Given the description of an element on the screen output the (x, y) to click on. 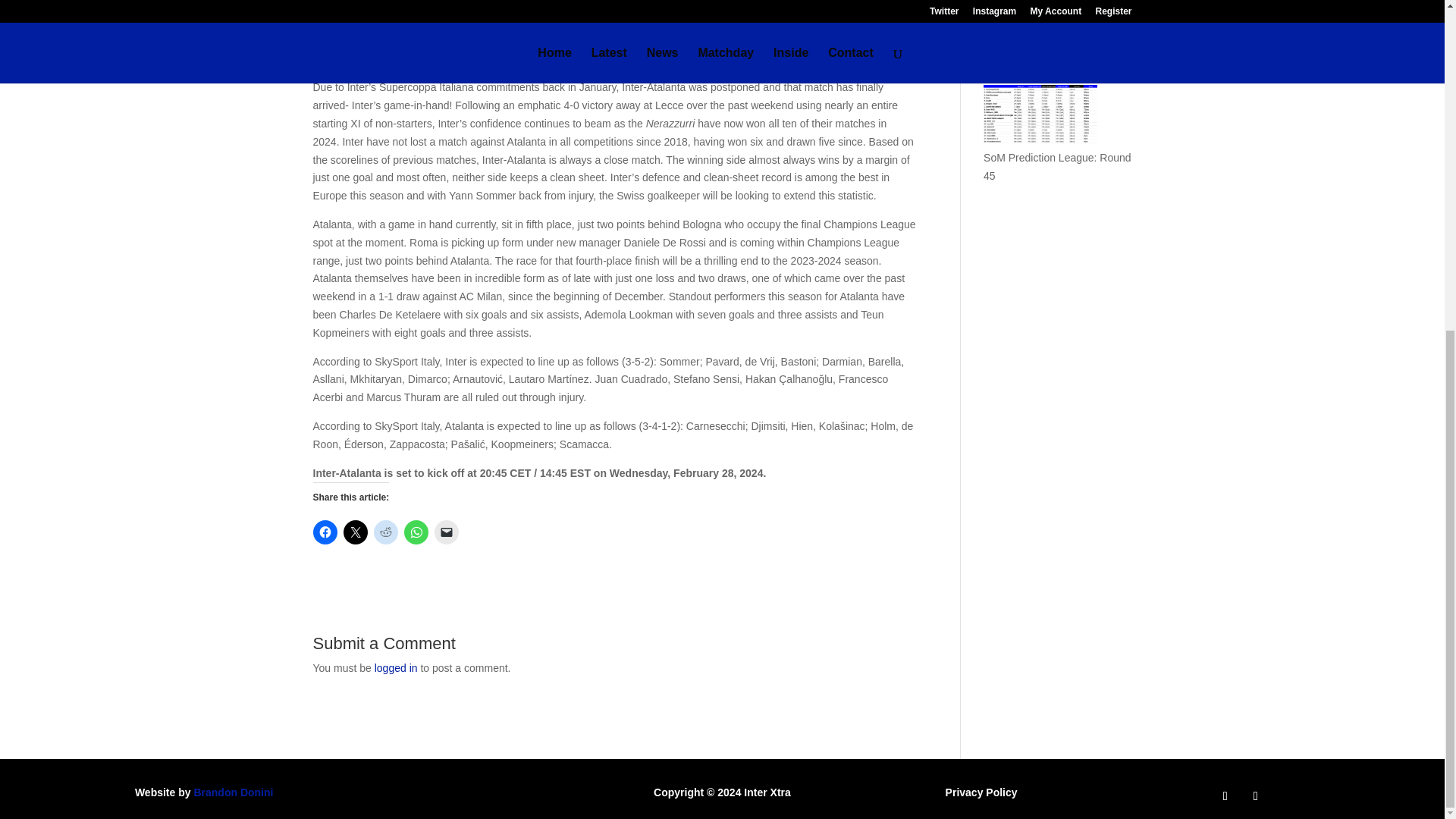
Click to share on Facebook (324, 532)
Follow on X (1224, 795)
Follow on Instagram (1255, 795)
Click to email a link to a friend (445, 532)
Click to share on Reddit (384, 532)
SoM Prediction League: Round 46 (1057, 60)
Click to share on X (354, 532)
logged in (395, 667)
Brandon Donini (233, 792)
SoM Prediction League: Round 45 (1057, 166)
